Given the description of an element on the screen output the (x, y) to click on. 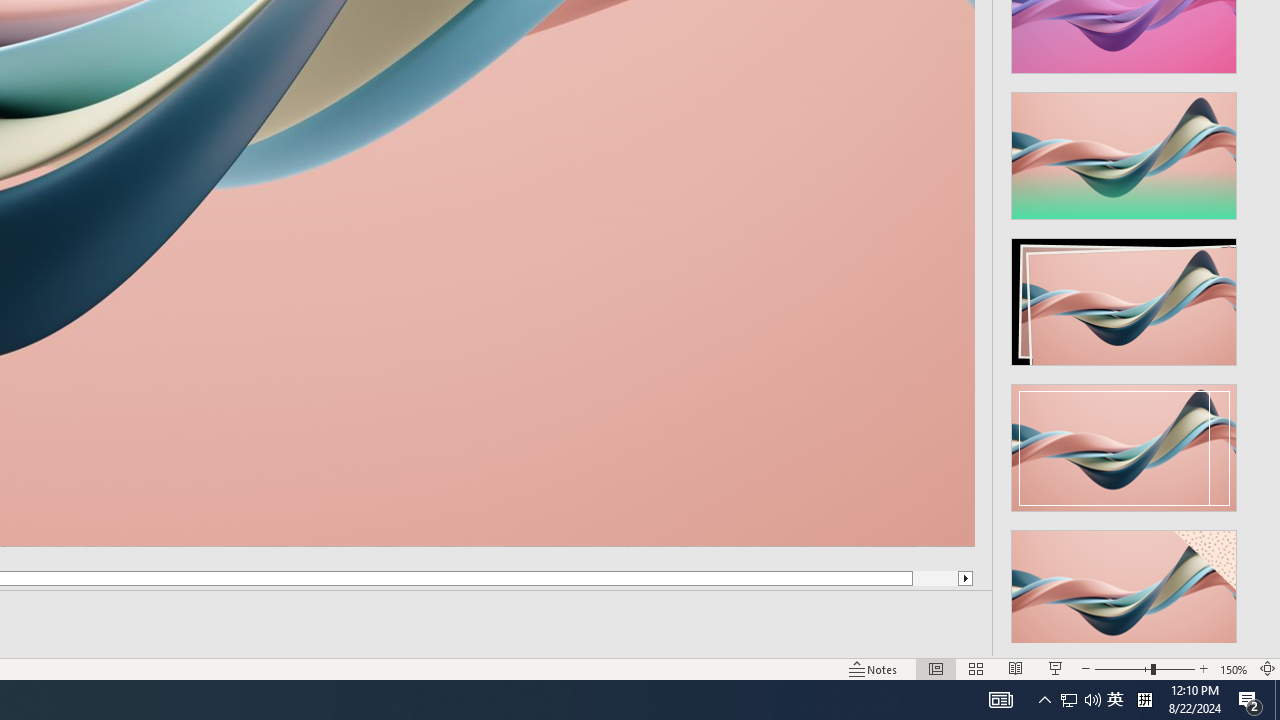
Zoom 150% (1234, 668)
